Given the description of an element on the screen output the (x, y) to click on. 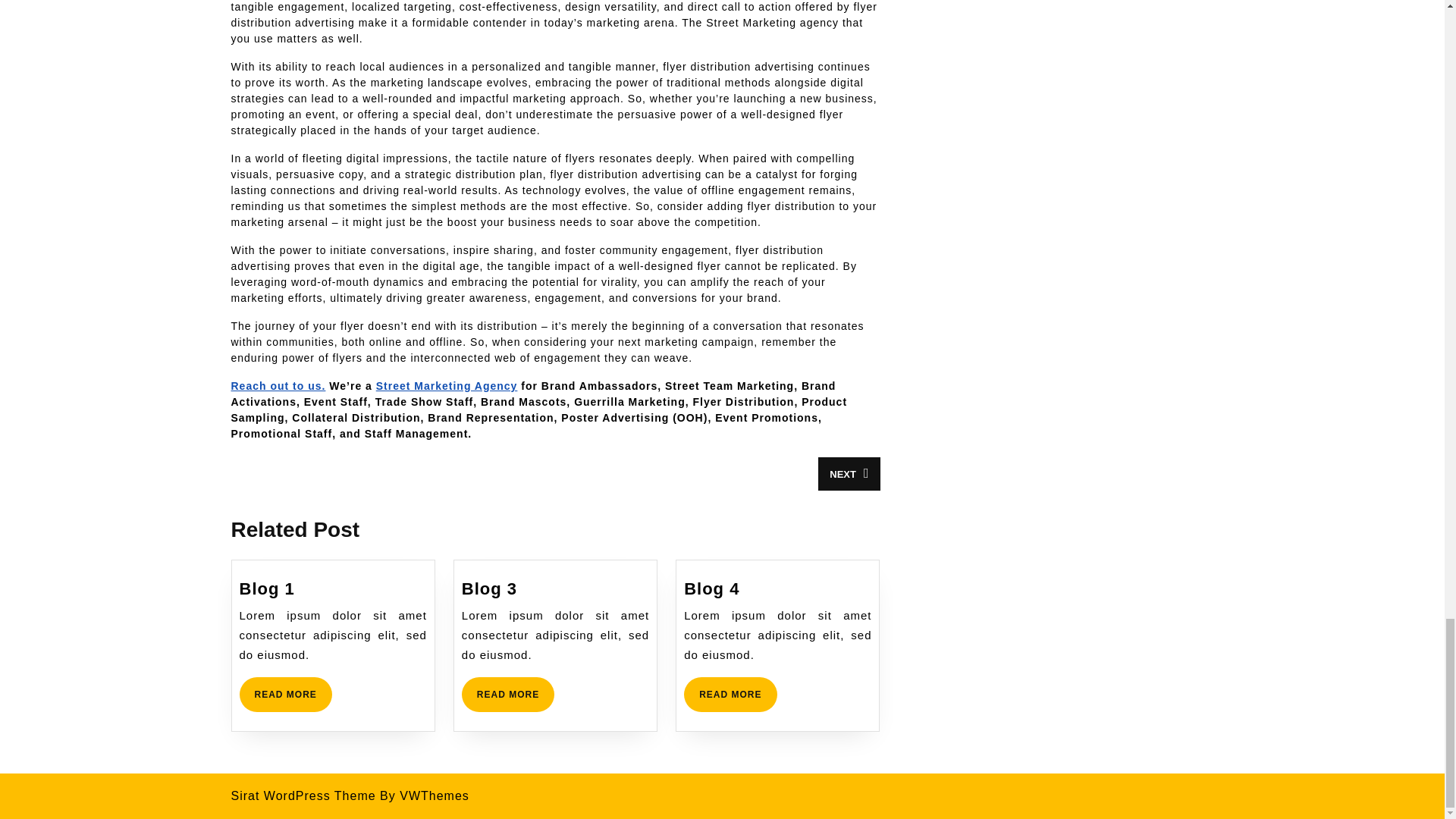
Street Marketing Agency (446, 386)
Sirat WordPress Theme (302, 795)
Reach out to us. (285, 694)
